Given the description of an element on the screen output the (x, y) to click on. 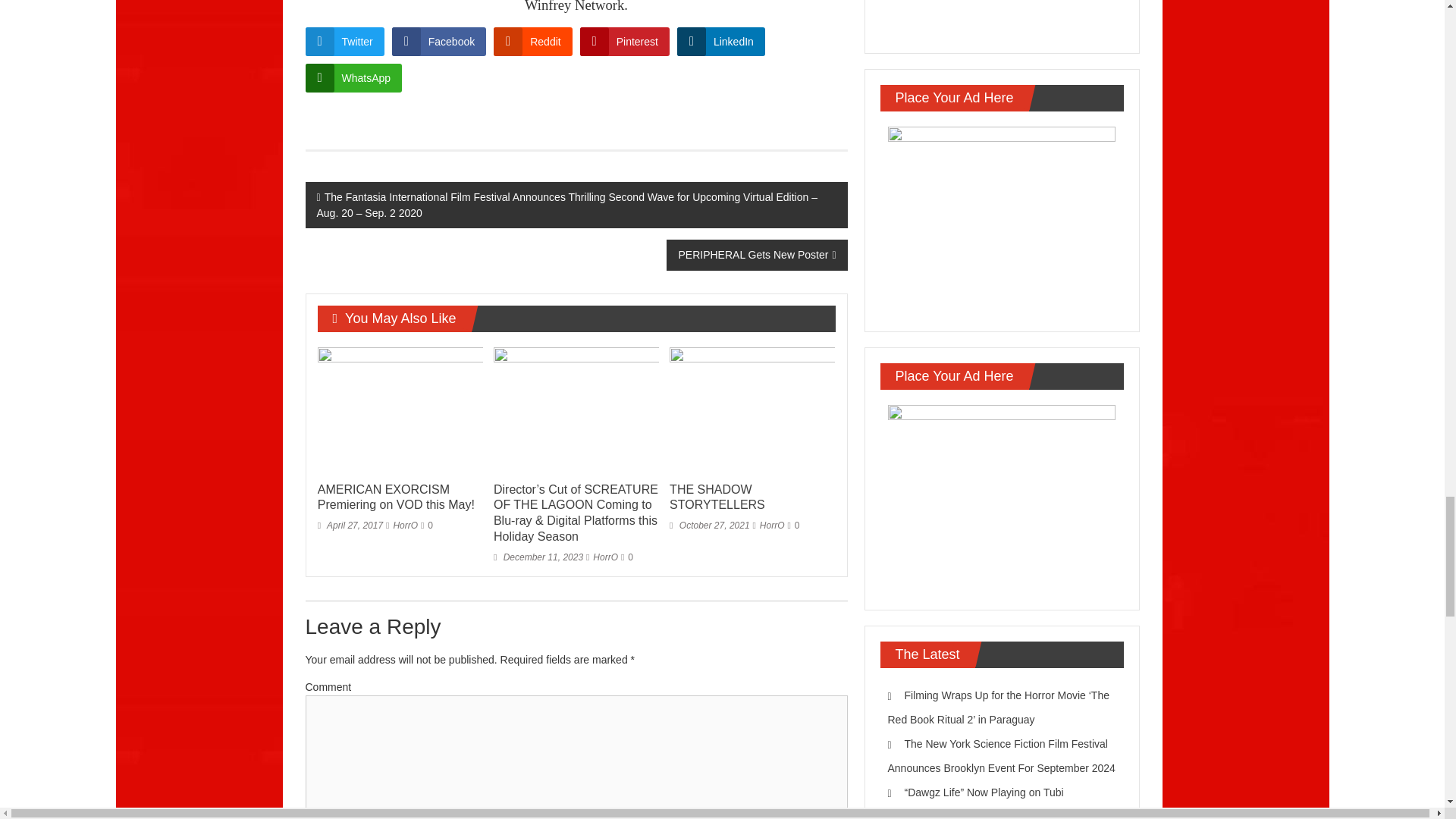
HorrO (604, 557)
THE SHADOW STORYTELLERS (717, 497)
11:00 am (538, 557)
9:00 am (349, 525)
AMERICAN EXORCISM Premiering on VOD this May! (400, 410)
THE SHADOW STORYTELLERS (751, 410)
12:58 pm (709, 525)
HorrO (772, 525)
HorrO (405, 525)
AMERICAN EXORCISM Premiering on VOD this May! (395, 497)
